Given the description of an element on the screen output the (x, y) to click on. 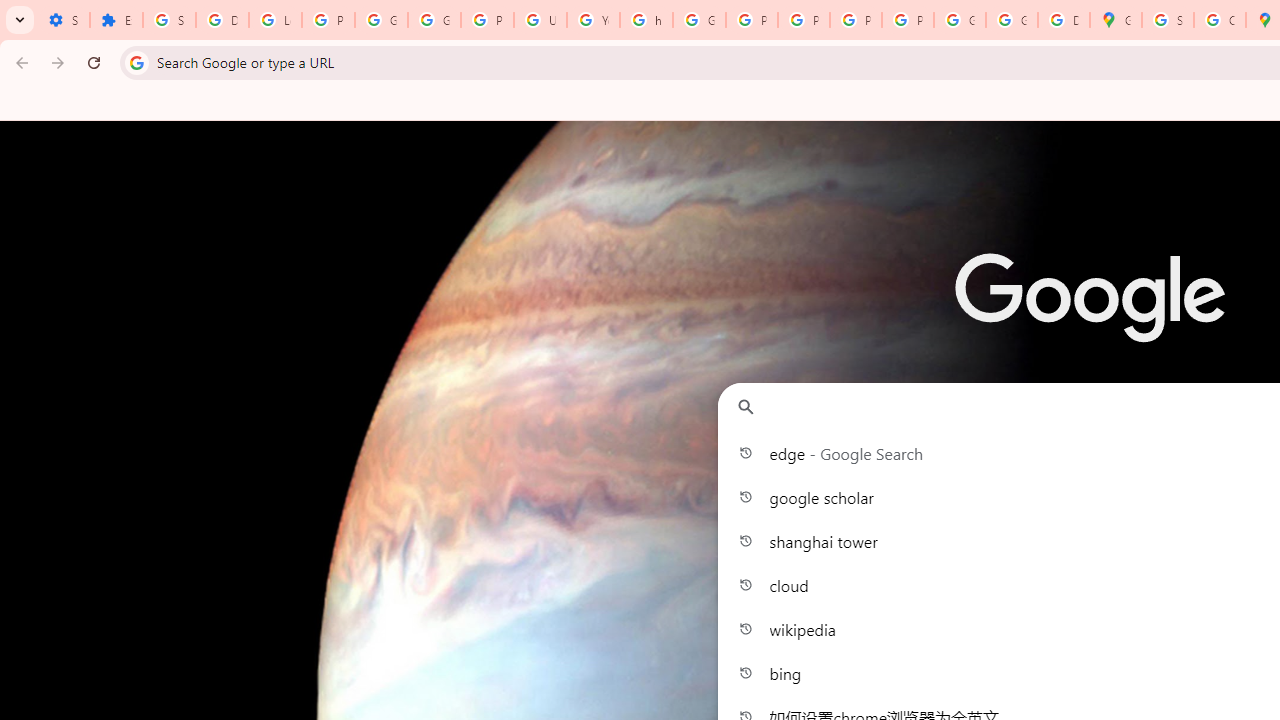
Google Maps (1115, 20)
